Given the description of an element on the screen output the (x, y) to click on. 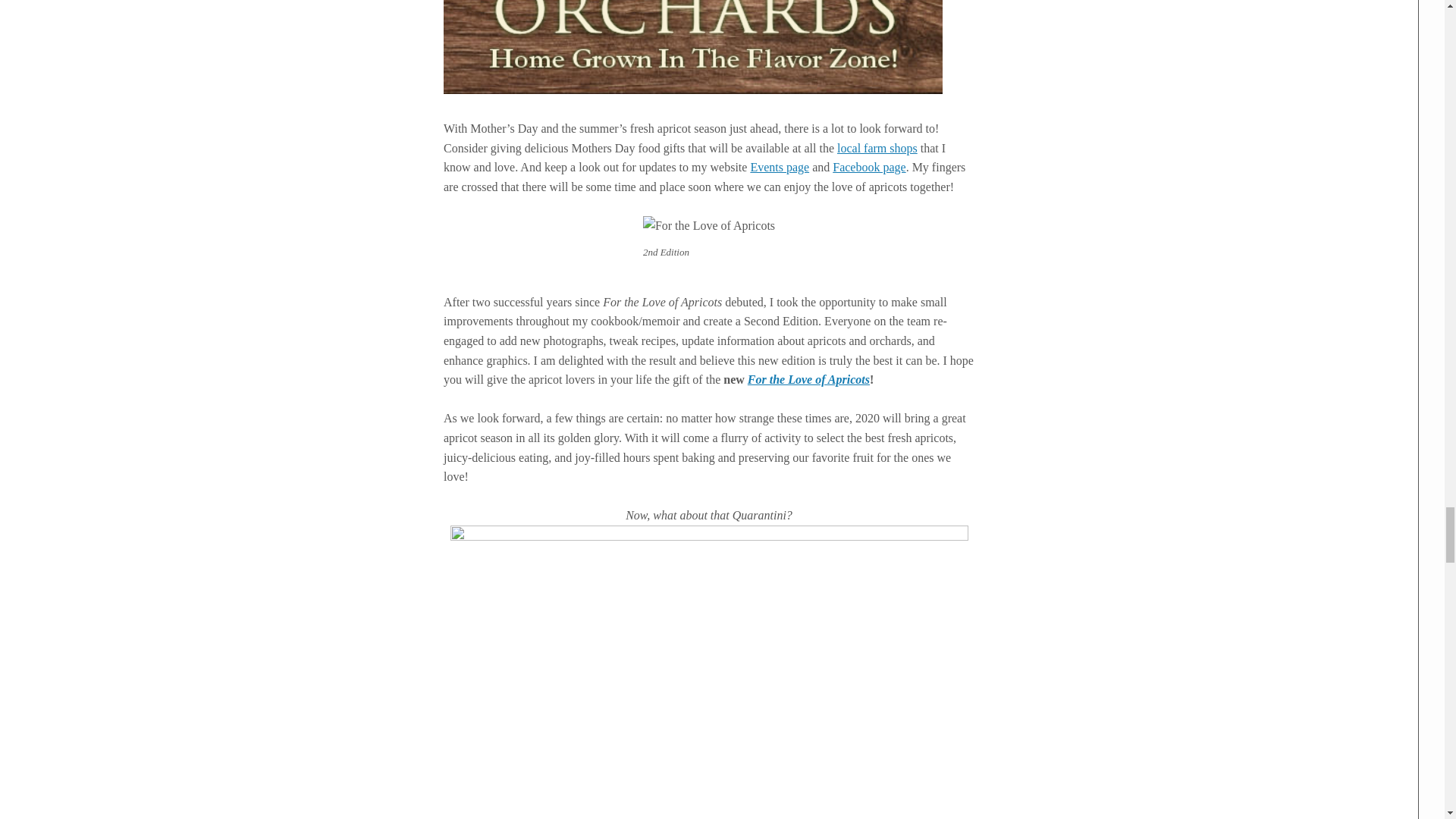
local farm shops (877, 147)
Facebook page (868, 166)
For the Love of Apricots (808, 379)
Events page (779, 166)
